Given the description of an element on the screen output the (x, y) to click on. 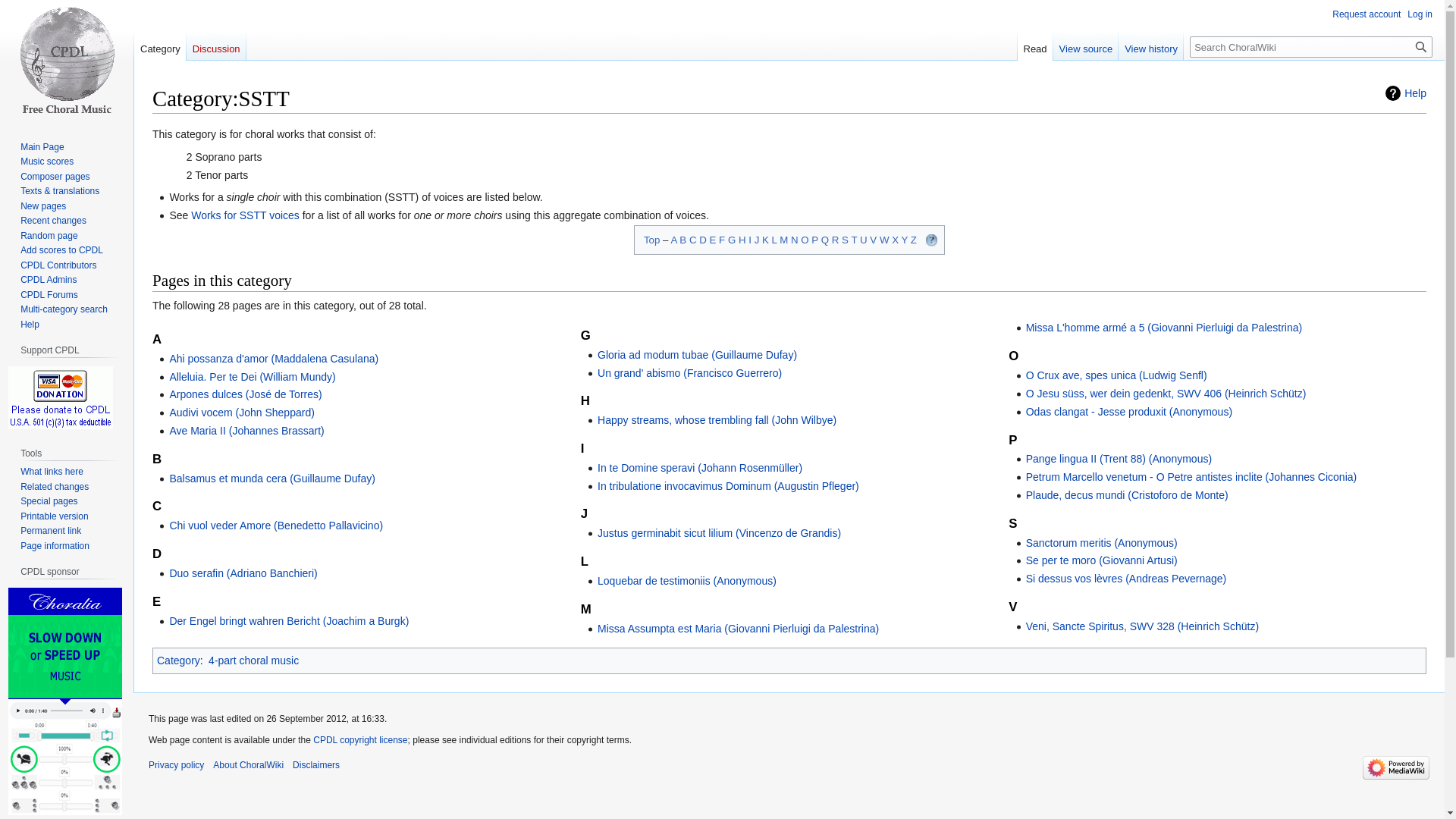
Search (1420, 46)
Help:What is the alphabetical line? (930, 239)
Go (1420, 46)
Go (1420, 46)
Top (651, 239)
Works for SSTT voices (244, 215)
Search (1420, 46)
Help (1406, 92)
ChoralWiki:Works for SSTT voices (244, 215)
